Given the description of an element on the screen output the (x, y) to click on. 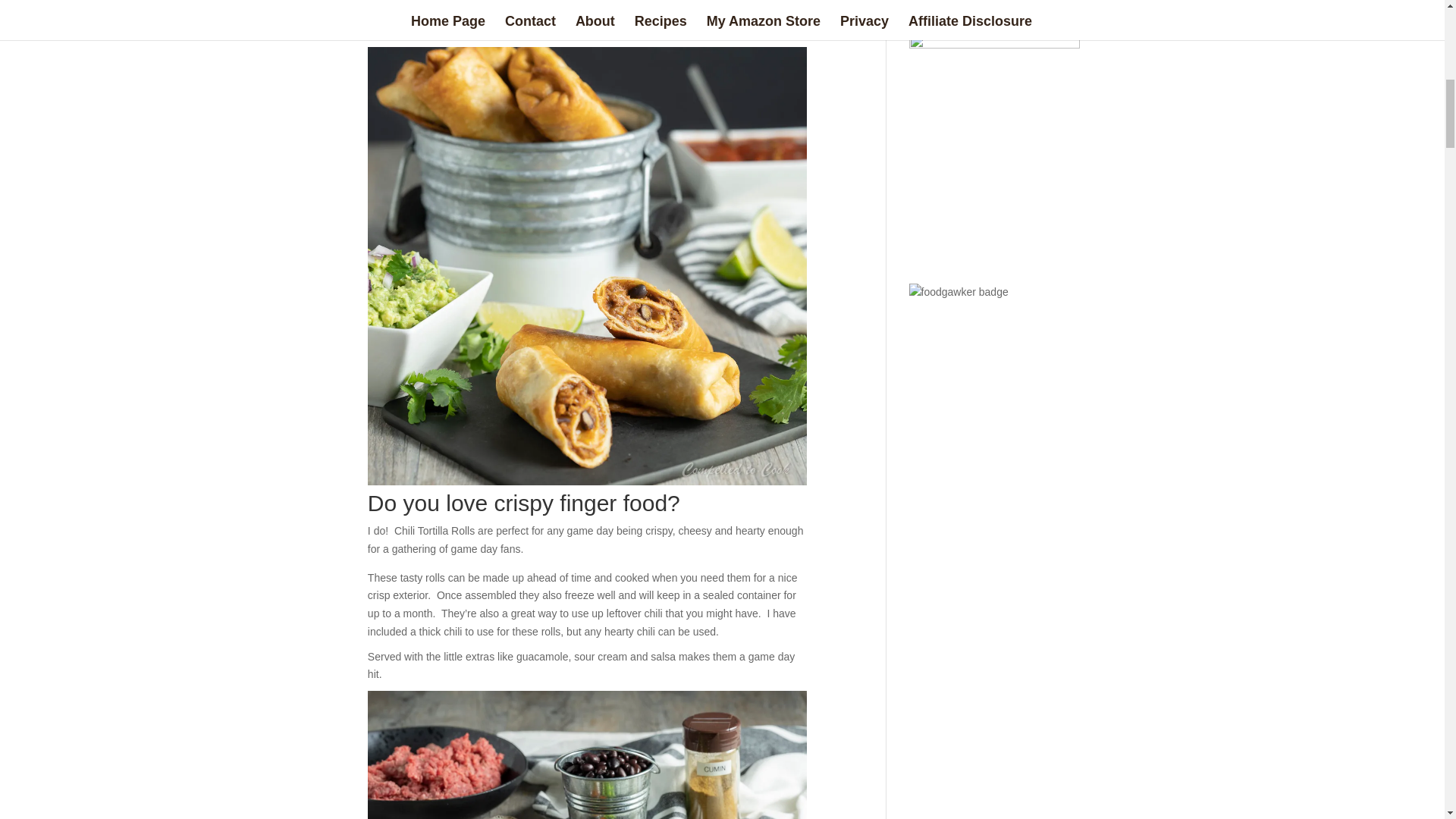
Subscribe (698, 10)
